Given the description of an element on the screen output the (x, y) to click on. 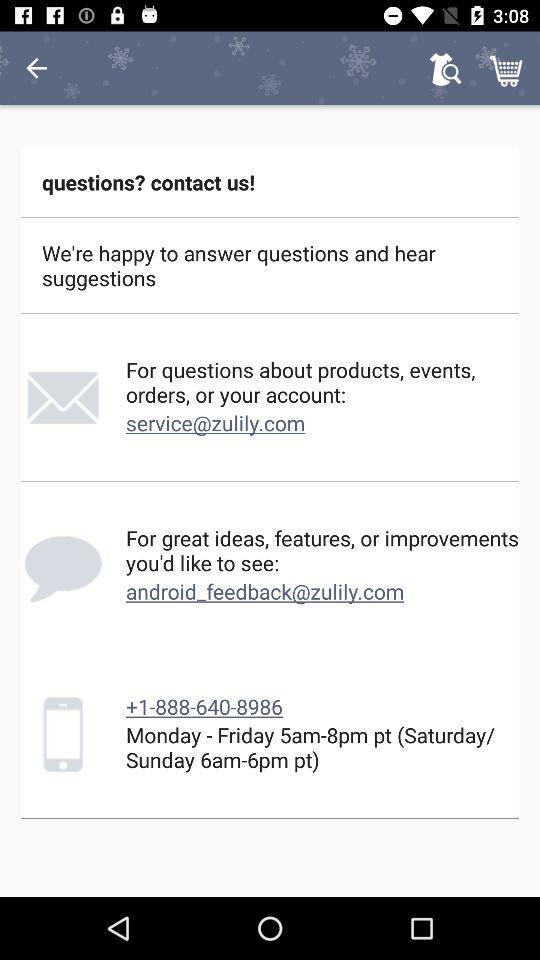
choose icon above 1 888 640 (265, 591)
